Given the description of an element on the screen output the (x, y) to click on. 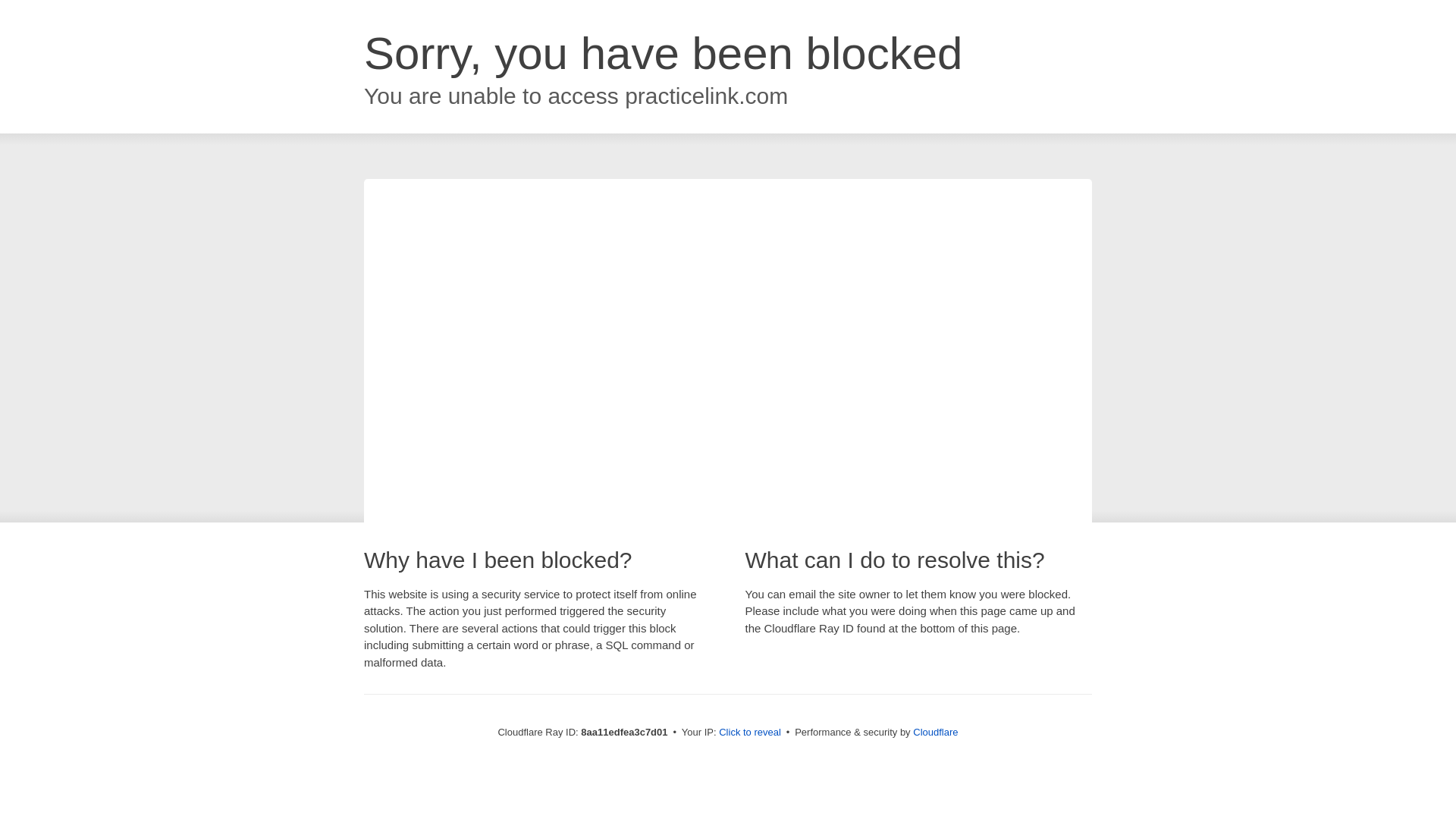
Cloudflare (935, 731)
Click to reveal (749, 732)
